Given the description of an element on the screen output the (x, y) to click on. 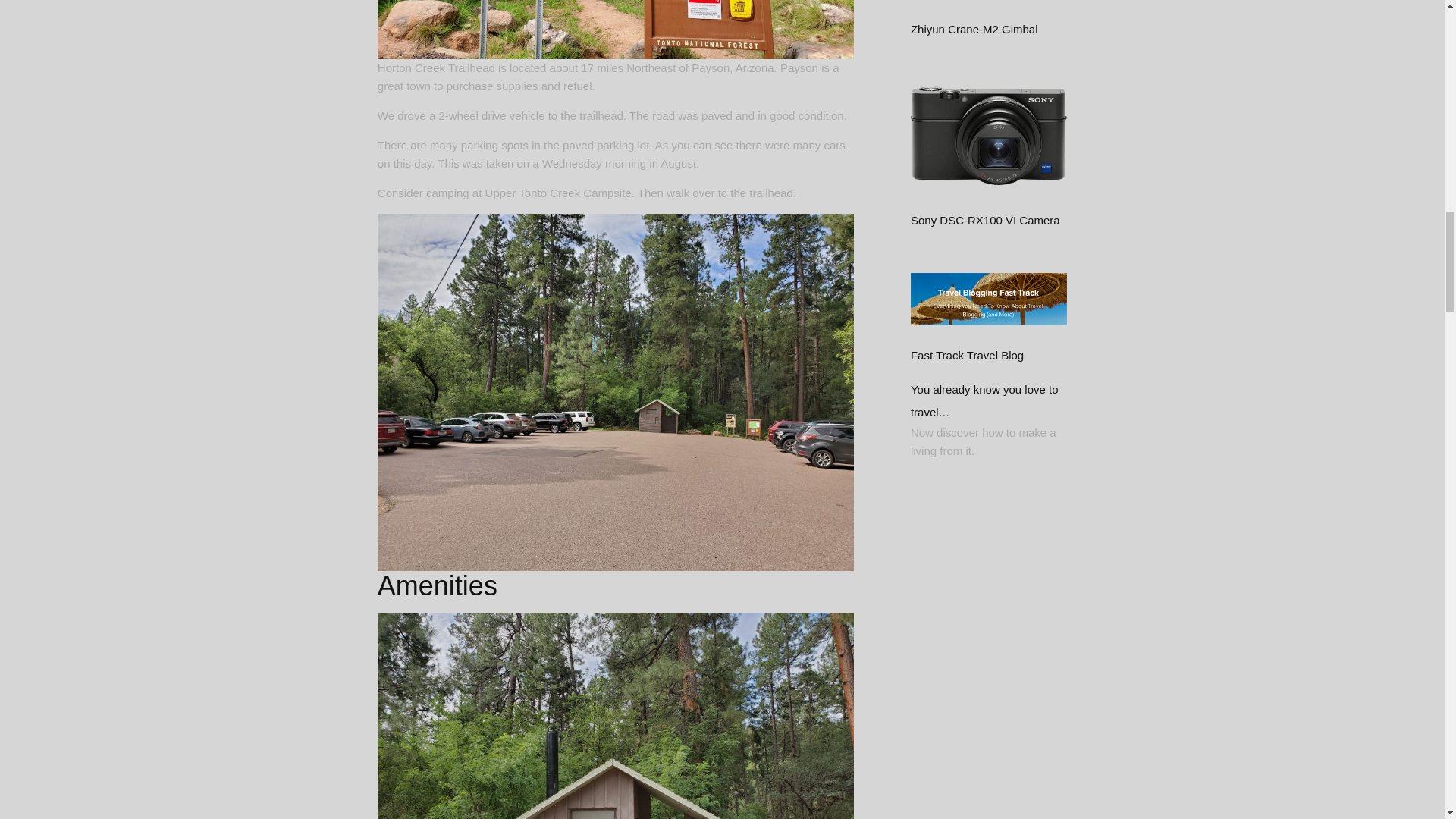
Sony DSC-RX100 VI Camera (989, 185)
Fast Track Travel Blog (989, 320)
Fast Track Travel Blog (967, 354)
Sony DSC-RX100 VI Camera (985, 219)
Fast Track Travel Blog (984, 400)
Zhiyun Crane-M2 Gimbal (974, 29)
